Given the description of an element on the screen output the (x, y) to click on. 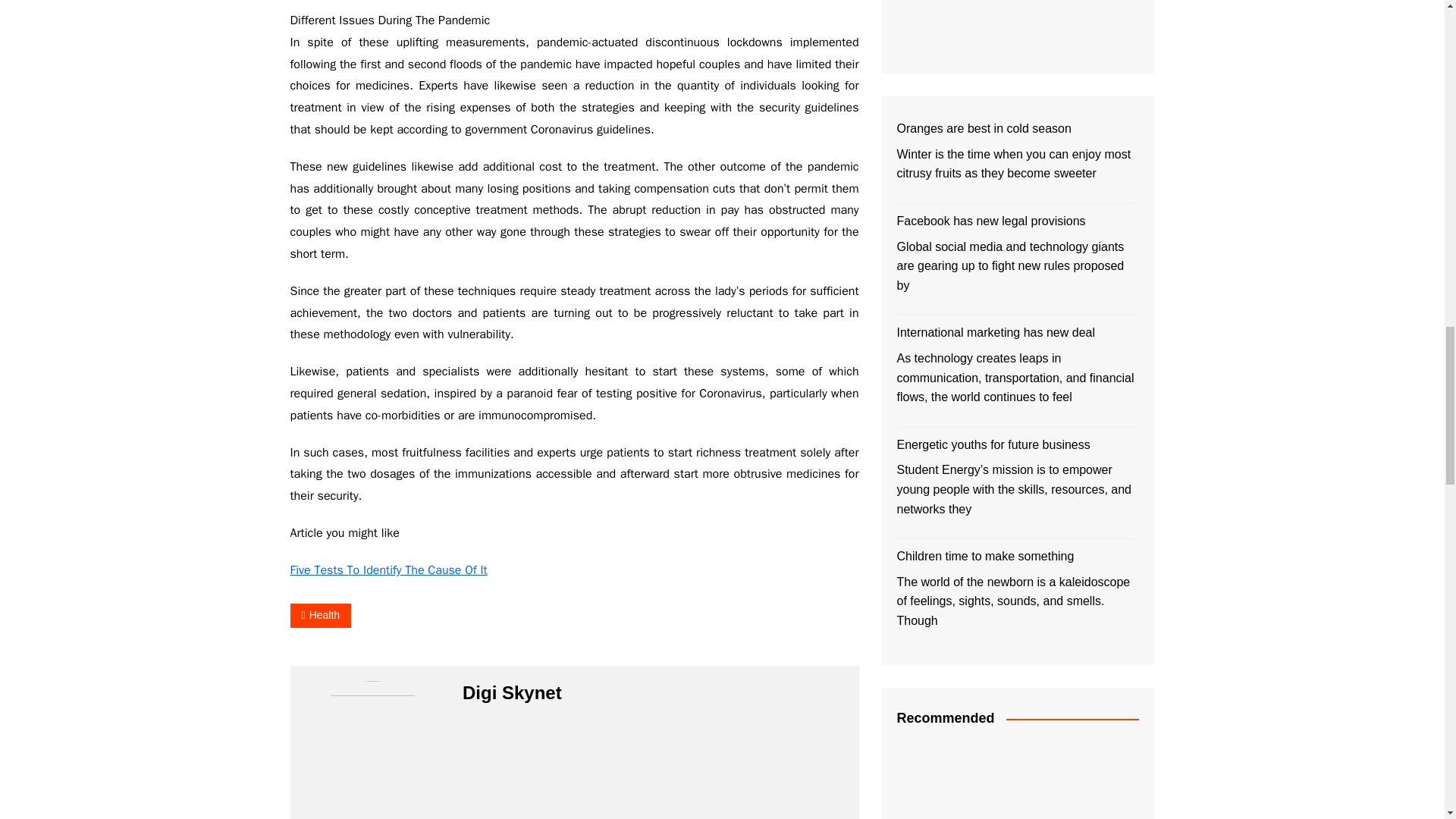
Health (319, 615)
Five Tests To Identify The Cause Of It (387, 570)
